Given the description of an element on the screen output the (x, y) to click on. 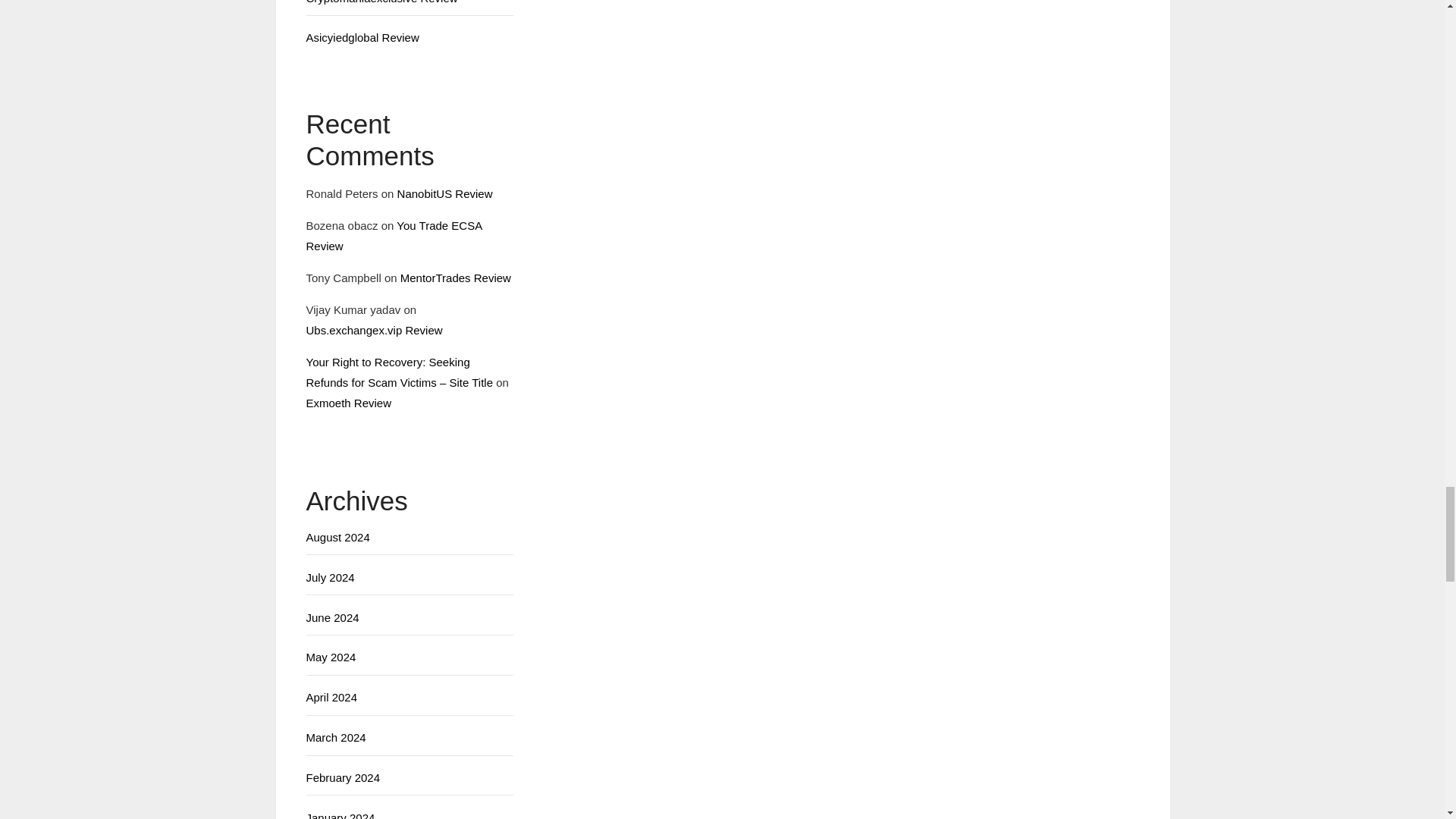
NanobitUS Review (445, 193)
Asicyiedglobal Review (362, 37)
Cryptomaniaexclusive Review (381, 2)
You Trade ECSA Review (393, 235)
